Given the description of an element on the screen output the (x, y) to click on. 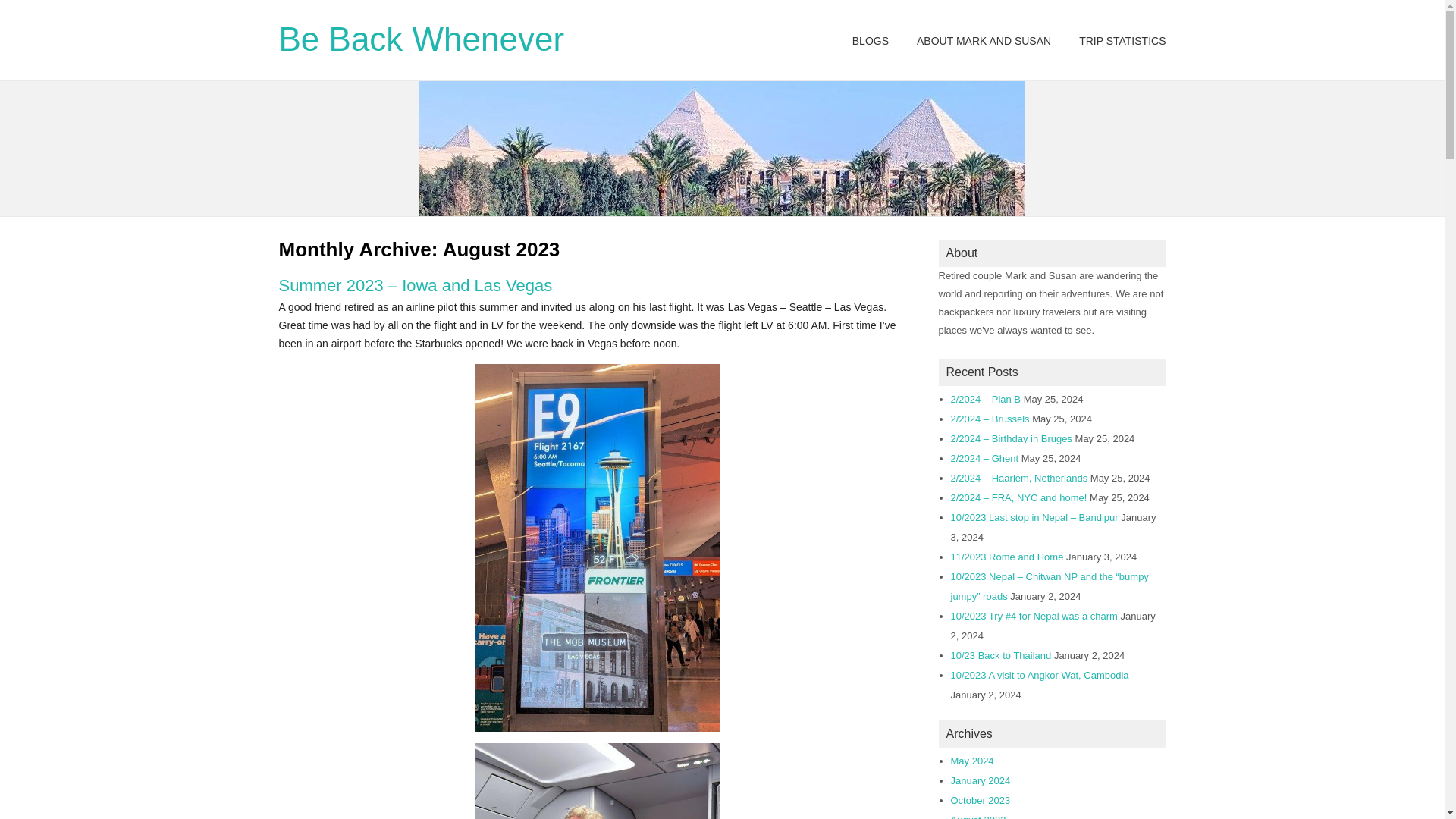
January 2024 (980, 780)
Be Back Whenever (421, 38)
October 2023 (980, 799)
August 2023 (978, 816)
May 2024 (972, 760)
ABOUT MARK AND SUSAN (984, 40)
TRIP STATISTICS (1122, 40)
